Given the description of an element on the screen output the (x, y) to click on. 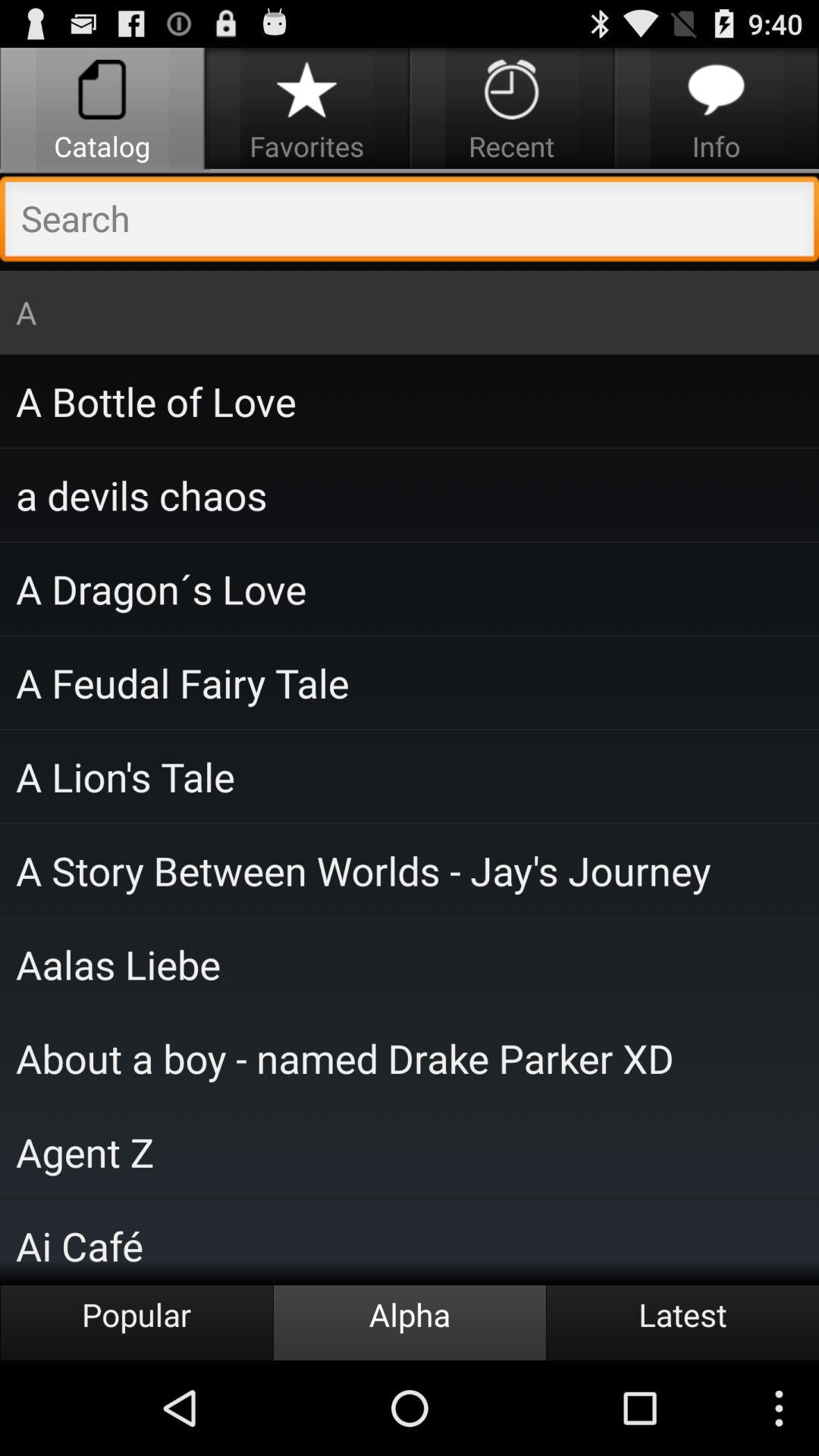
press icon above popular icon (409, 1241)
